Given the description of an element on the screen output the (x, y) to click on. 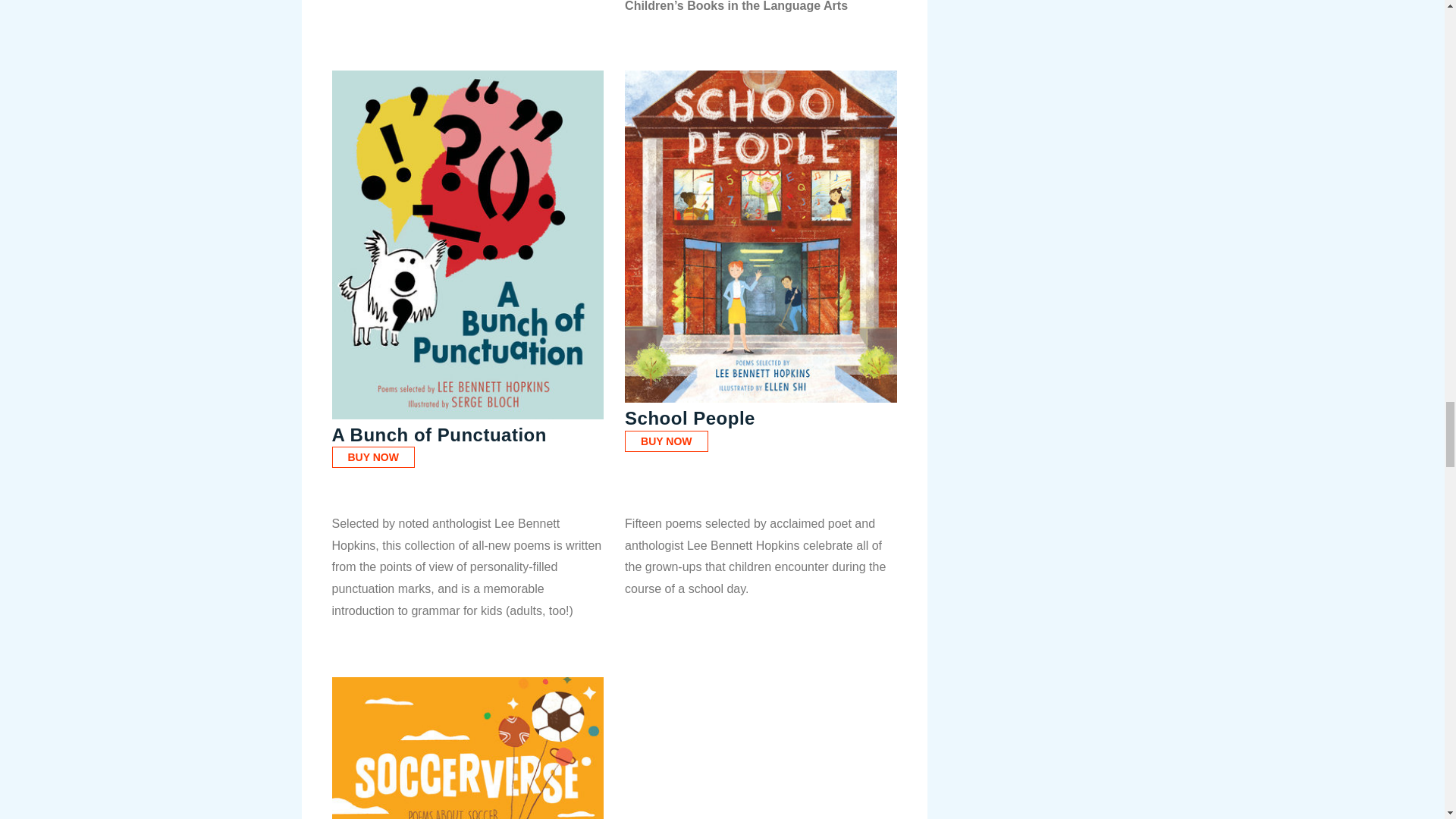
Soccerverse (467, 748)
